Given the description of an element on the screen output the (x, y) to click on. 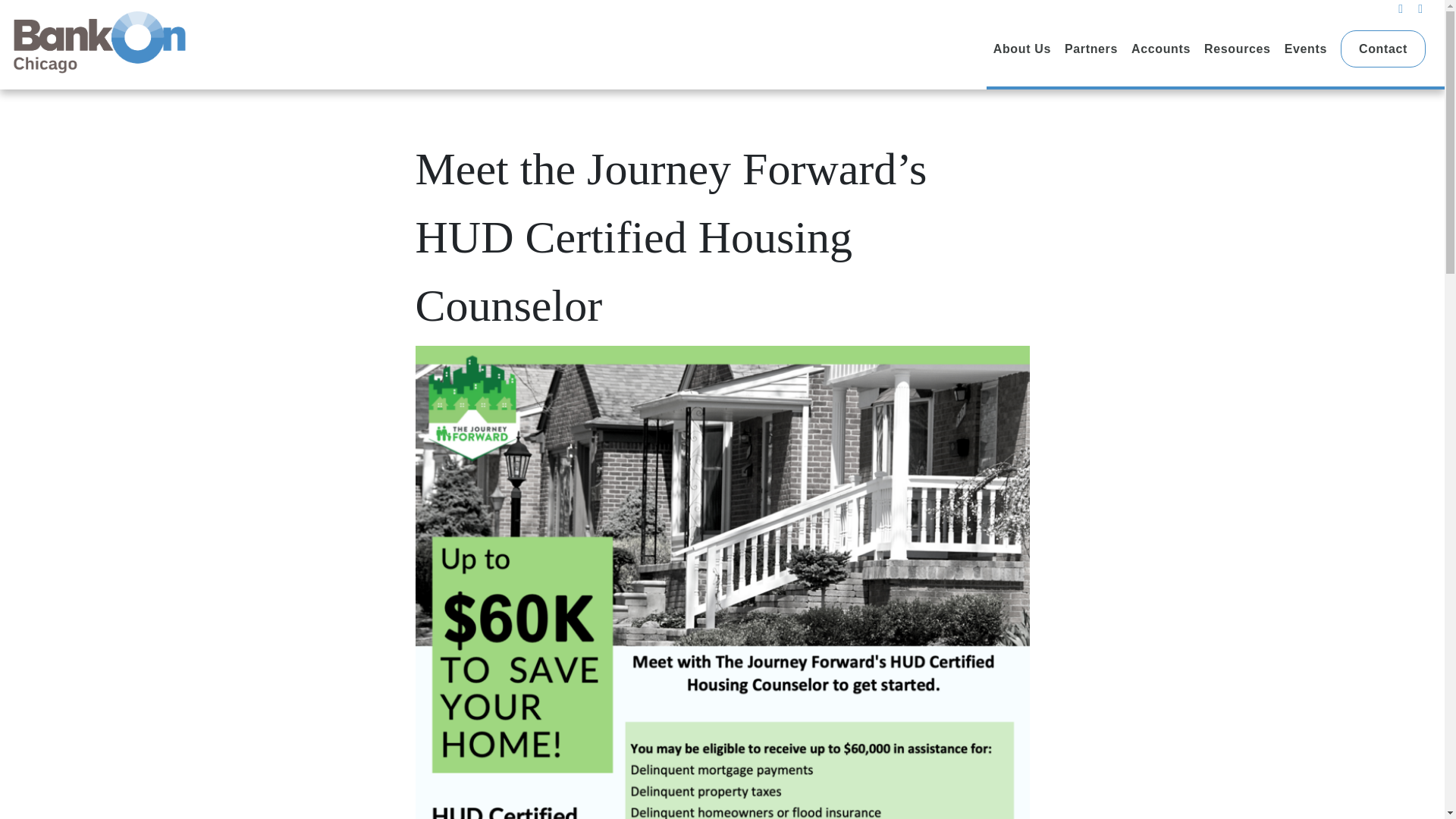
Accounts (1161, 48)
Resources (1237, 48)
Events (1305, 48)
Contact (1382, 48)
Partners (1091, 48)
About Us (1021, 48)
